Given the description of an element on the screen output the (x, y) to click on. 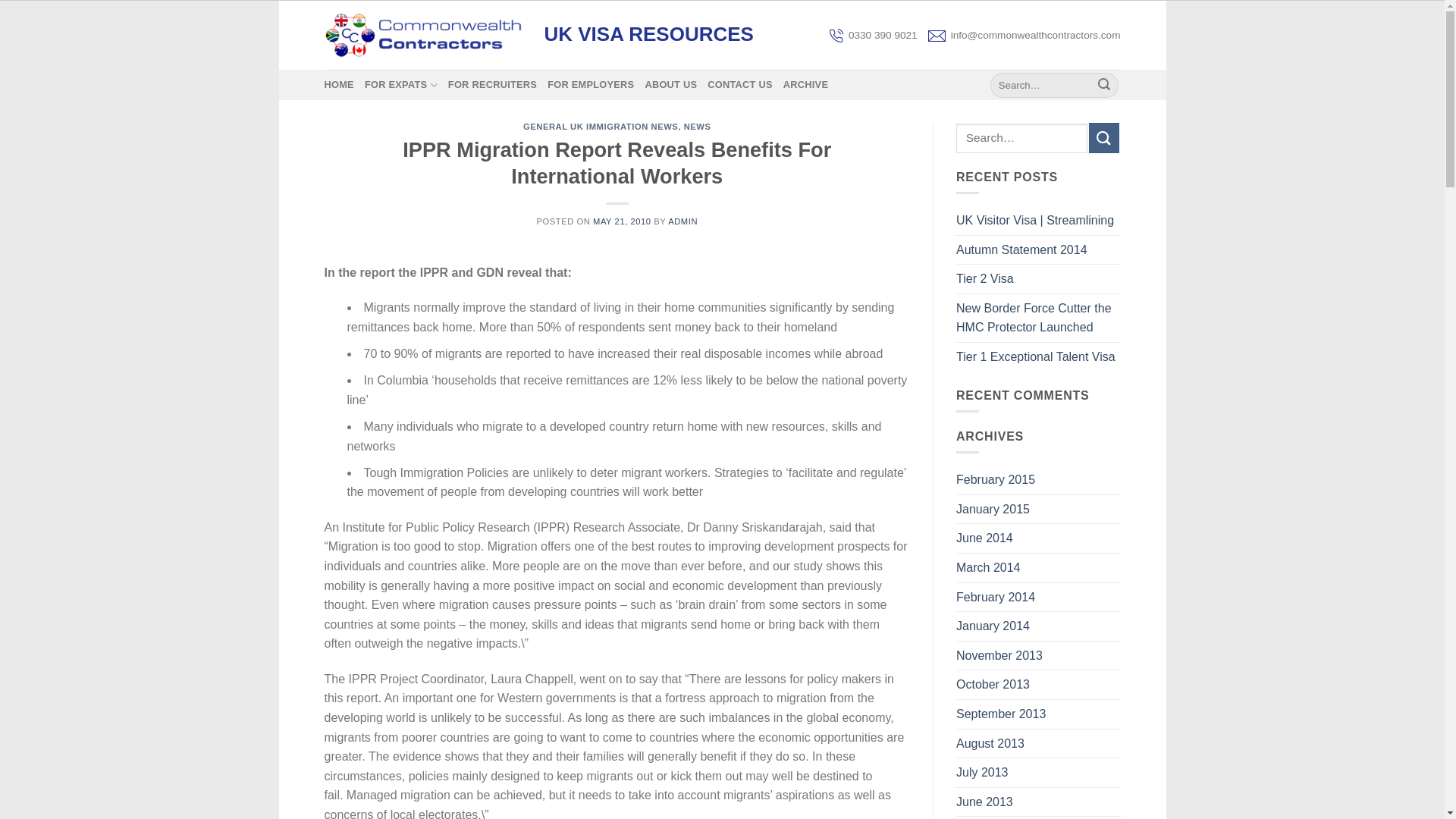
HOME (338, 84)
FOR EMPLOYERS (590, 84)
MAY 21, 2010 (621, 221)
ADMIN (682, 221)
GENERAL UK IMMIGRATION NEWS (600, 126)
CONTACT US (740, 84)
ARCHIVE (805, 84)
NEWS (697, 126)
FOR EXPATS (401, 84)
